Given the description of an element on the screen output the (x, y) to click on. 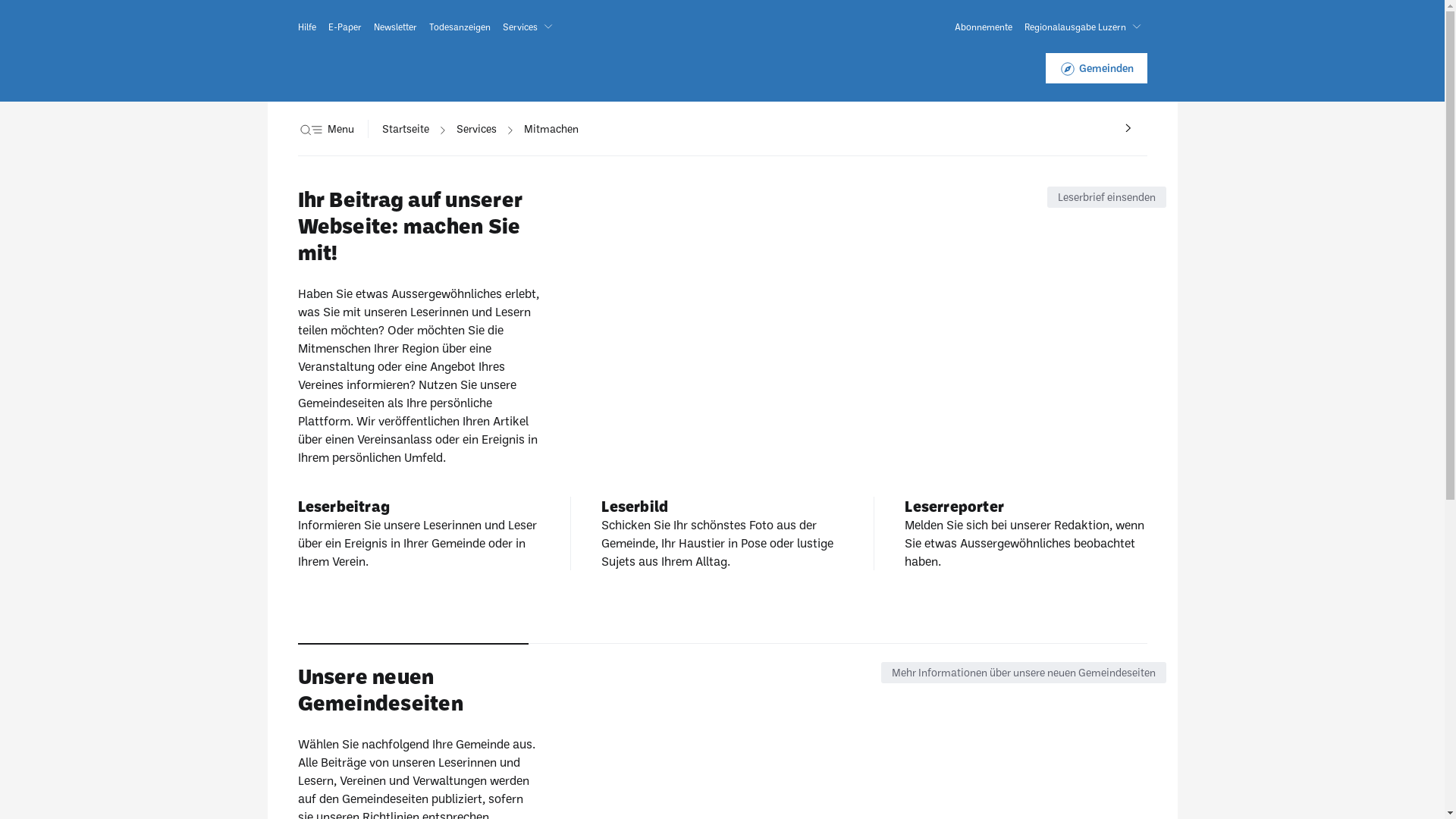
Menu Element type: text (325, 128)
E-Paper Element type: text (343, 26)
Todesanzeigen Element type: text (459, 26)
Services Element type: text (476, 128)
Hilfe Element type: text (306, 26)
Services Element type: text (530, 26)
Newsletter Element type: text (394, 26)
Regionalausgabe Luzern Element type: text (1084, 26)
Gemeinden Element type: text (1095, 68)
Startseite Element type: text (405, 128)
Leserbrief einsenden Element type: text (1105, 196)
Abonnemente Element type: text (982, 26)
